Given the description of an element on the screen output the (x, y) to click on. 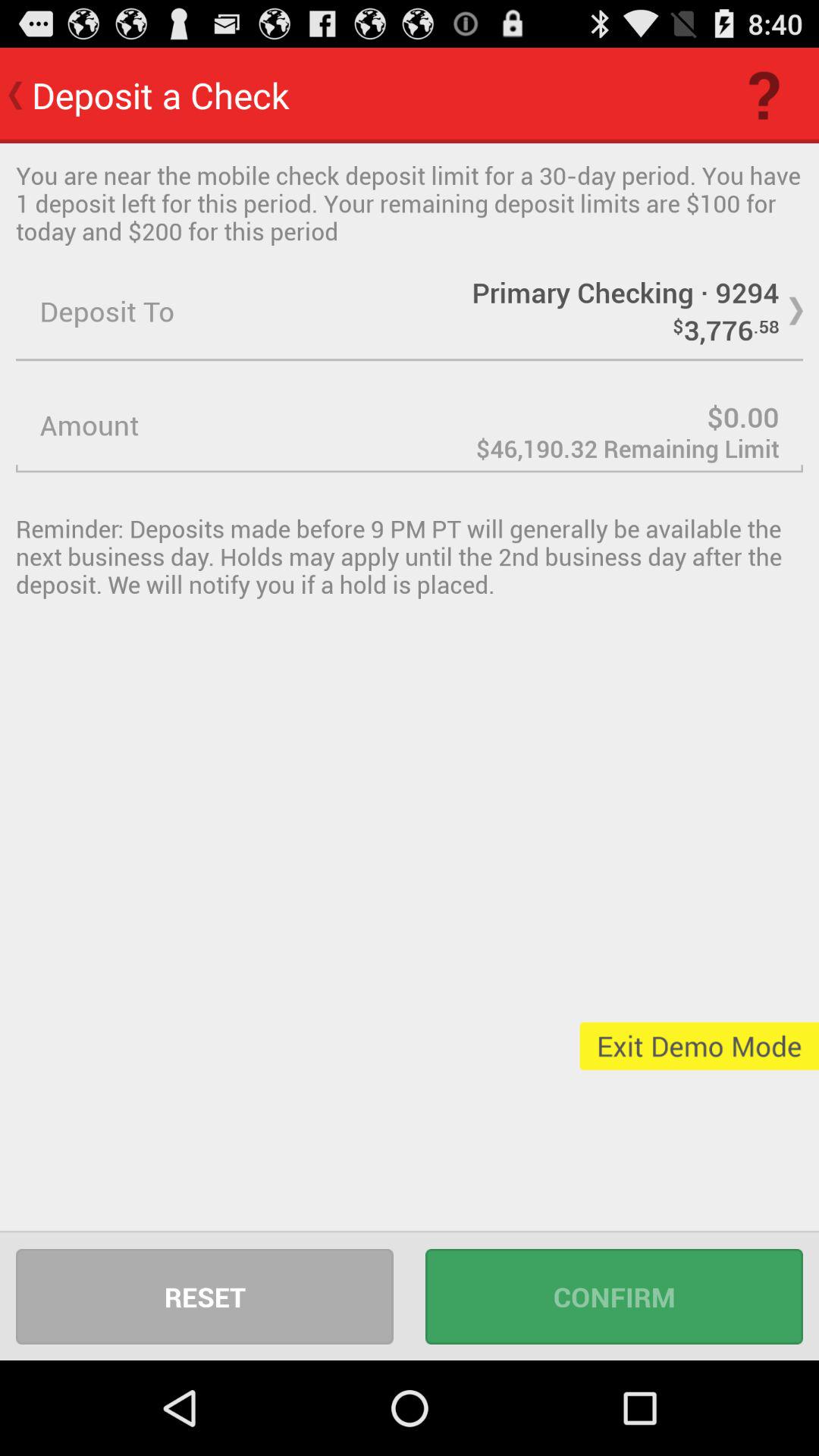
swipe to confirm (614, 1296)
